Given the description of an element on the screen output the (x, y) to click on. 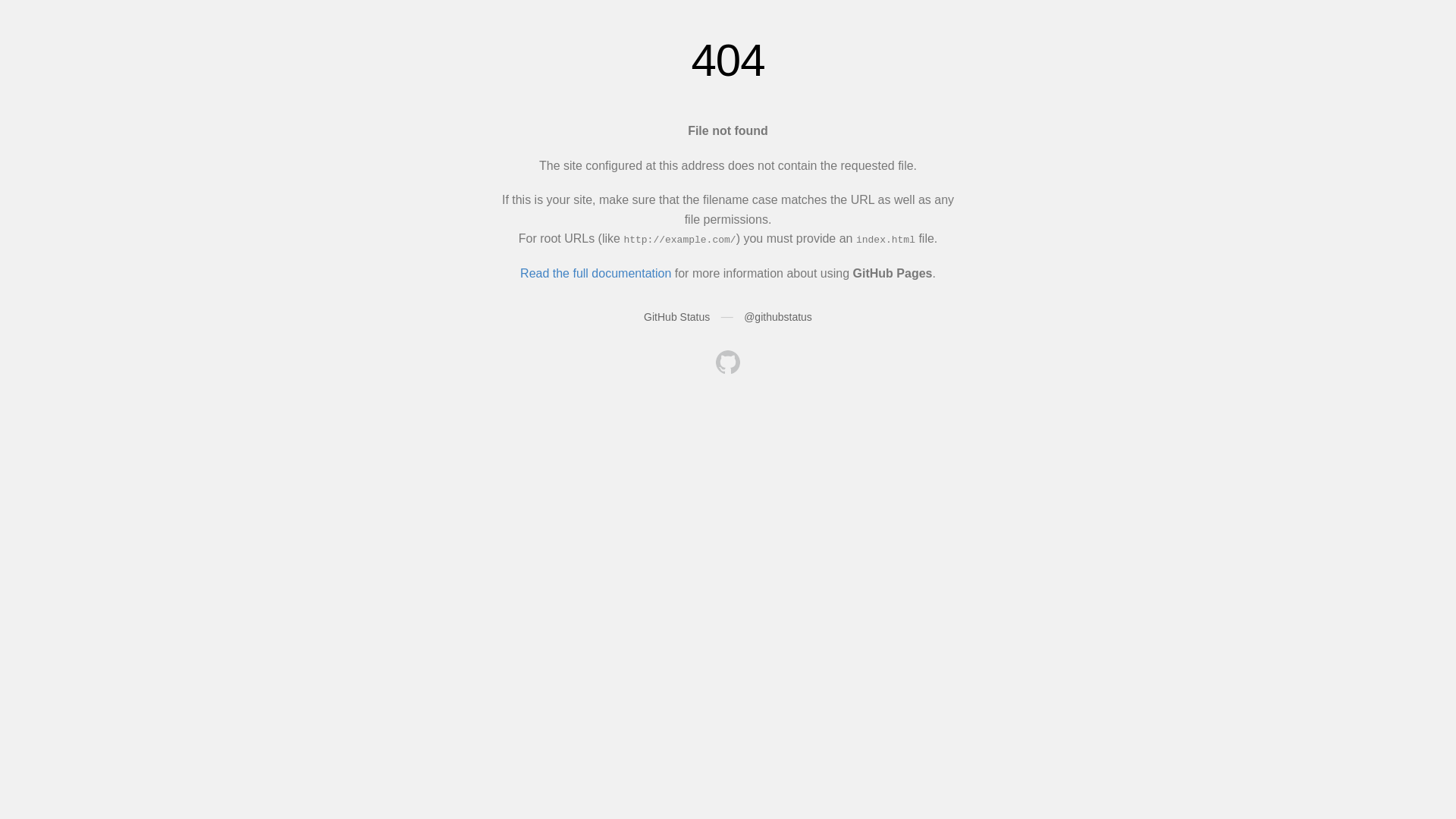
Read the full documentation Element type: text (595, 272)
@githubstatus Element type: text (777, 316)
GitHub Status Element type: text (676, 316)
